Given the description of an element on the screen output the (x, y) to click on. 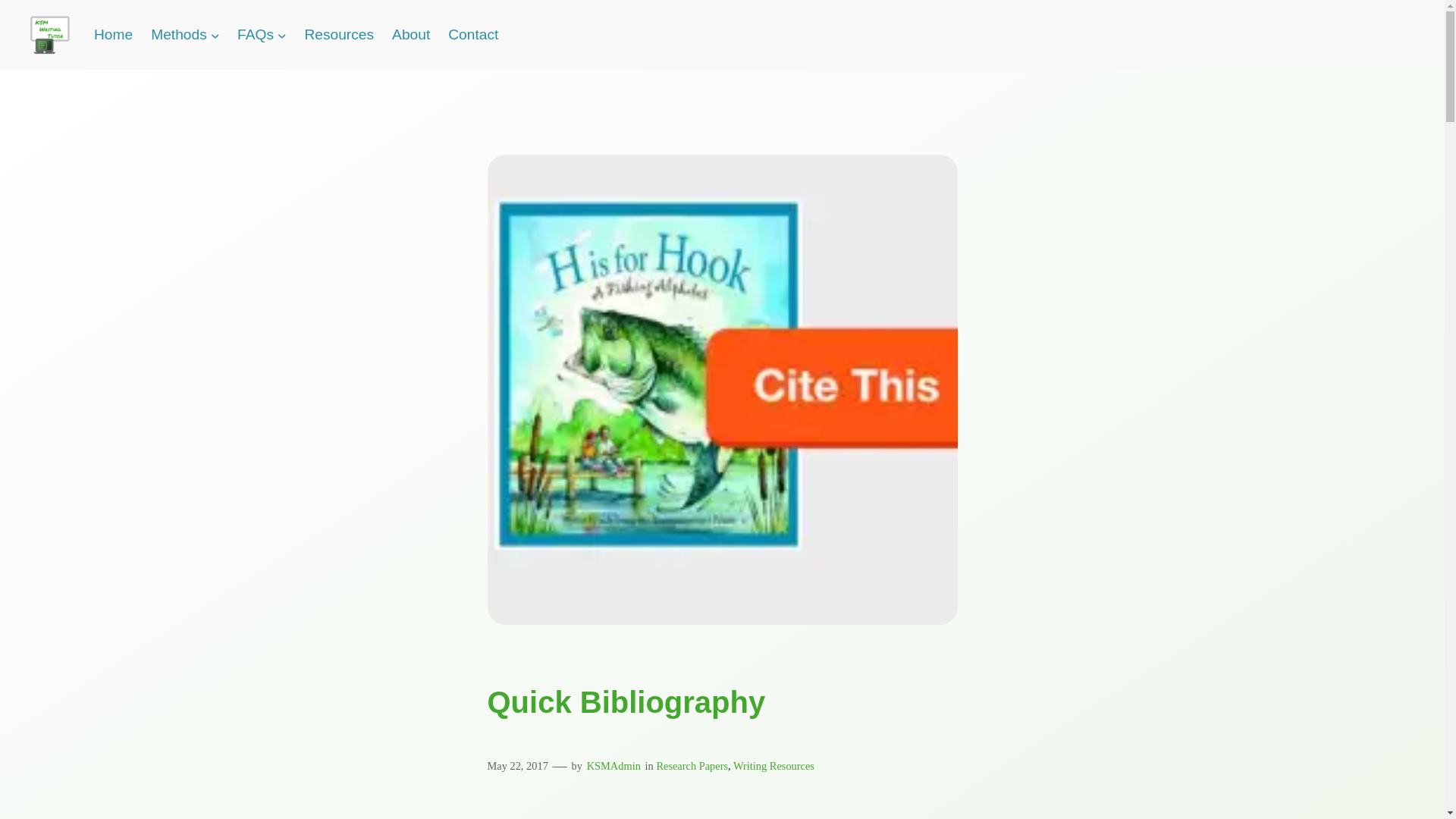
May 22, 2017 (516, 766)
Home (113, 34)
Methods (178, 34)
Resources (339, 34)
Writing Resources (773, 766)
KSMAdmin (613, 766)
About (410, 34)
FAQs (255, 34)
Contact (472, 34)
Research Papers (692, 766)
